Given the description of an element on the screen output the (x, y) to click on. 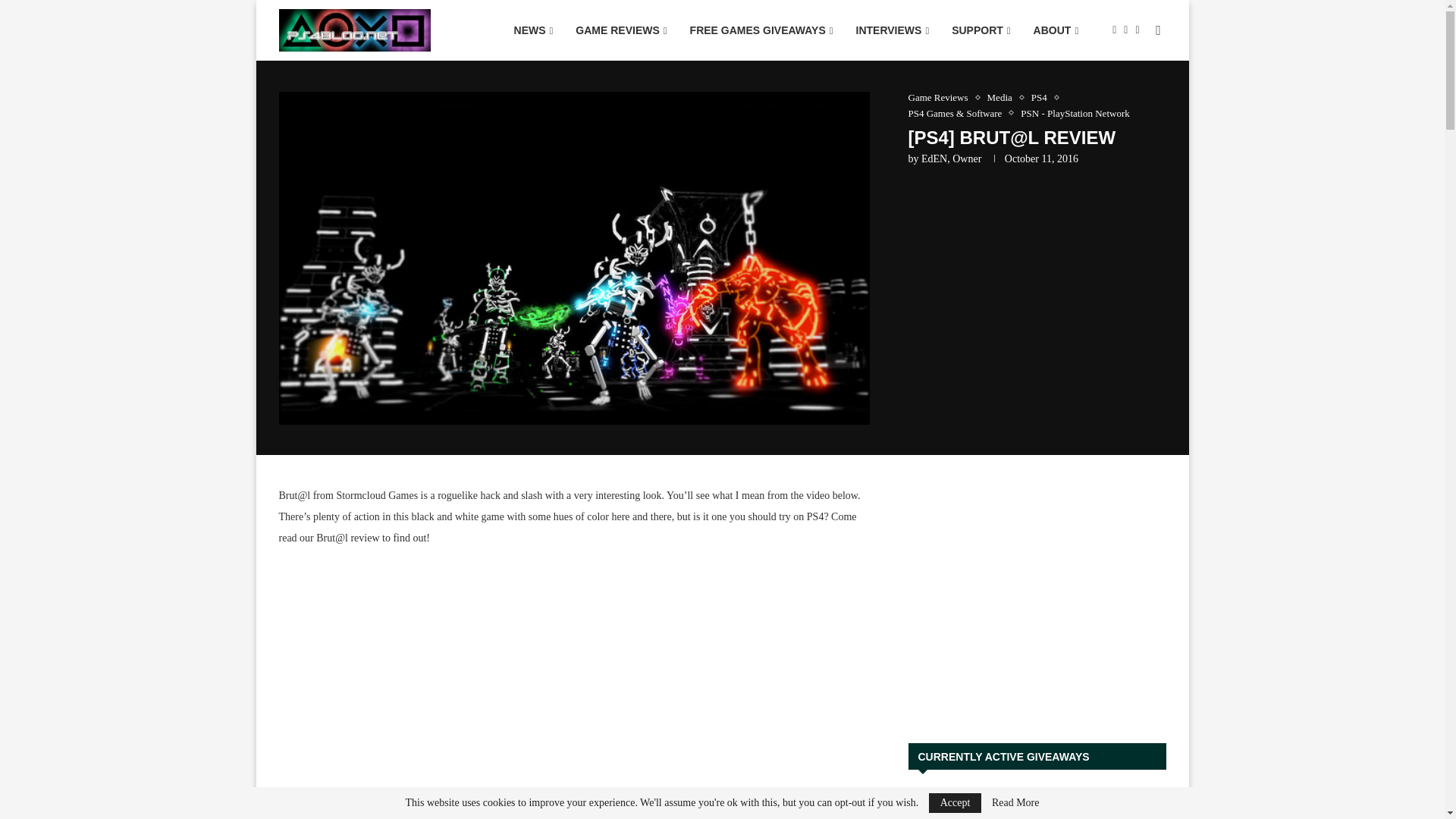
INTERVIEWS (892, 30)
NEWS (533, 30)
GAME REVIEWS (621, 30)
FREE GAMES GIVEAWAYS (761, 30)
